Given the description of an element on the screen output the (x, y) to click on. 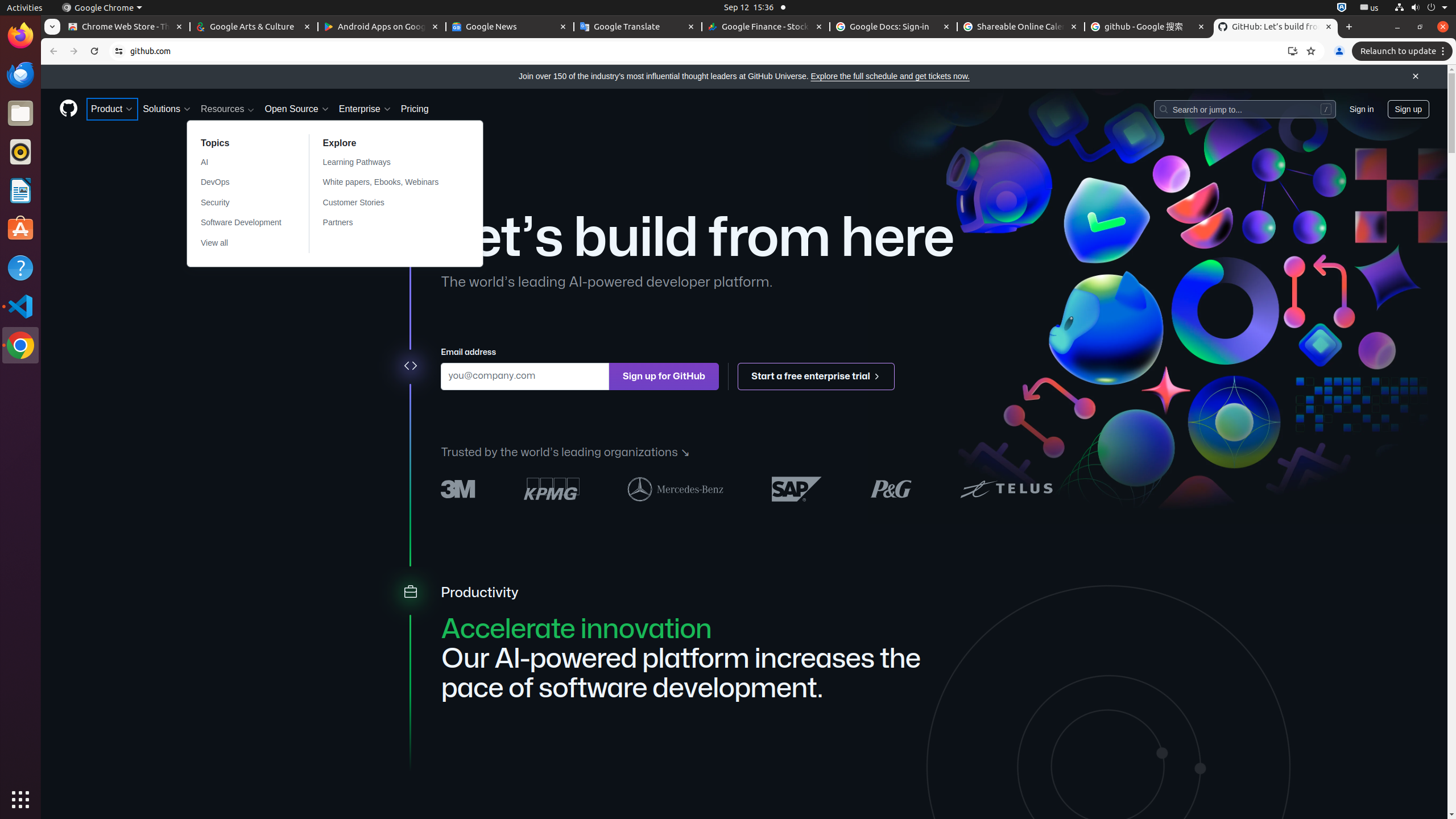
View all Element type: link (240, 242)
Google Chrome Element type: push-button (20, 344)
Software Development Element type: link (240, 222)
Google Docs: Sign-in - Memory usage - 31.9 MB Element type: page-tab (893, 26)
Visual Studio Code Element type: push-button (20, 306)
